Given the description of an element on the screen output the (x, y) to click on. 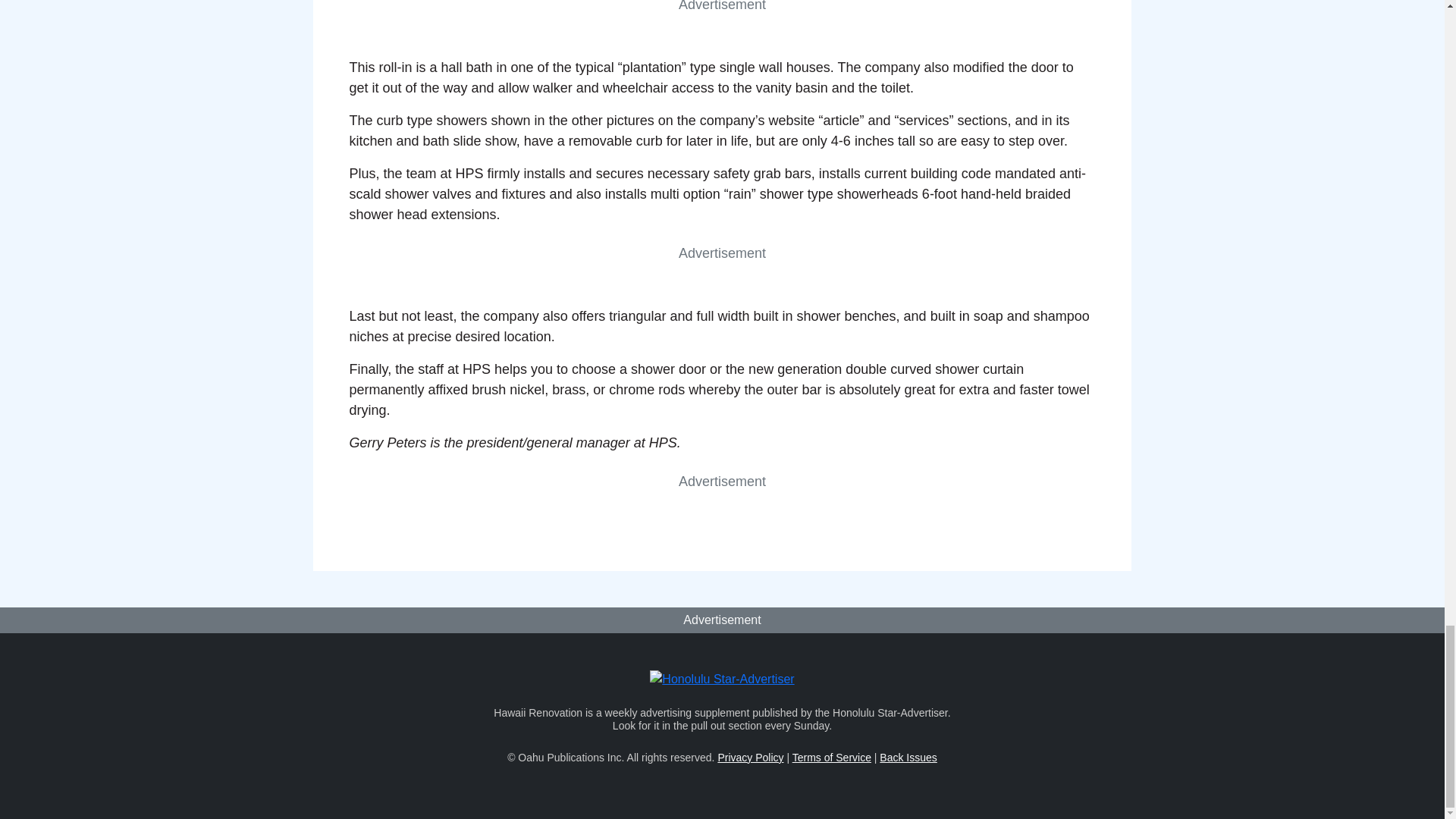
Back Issues (907, 757)
Terms of Service (831, 757)
Privacy Policy (750, 757)
